Given the description of an element on the screen output the (x, y) to click on. 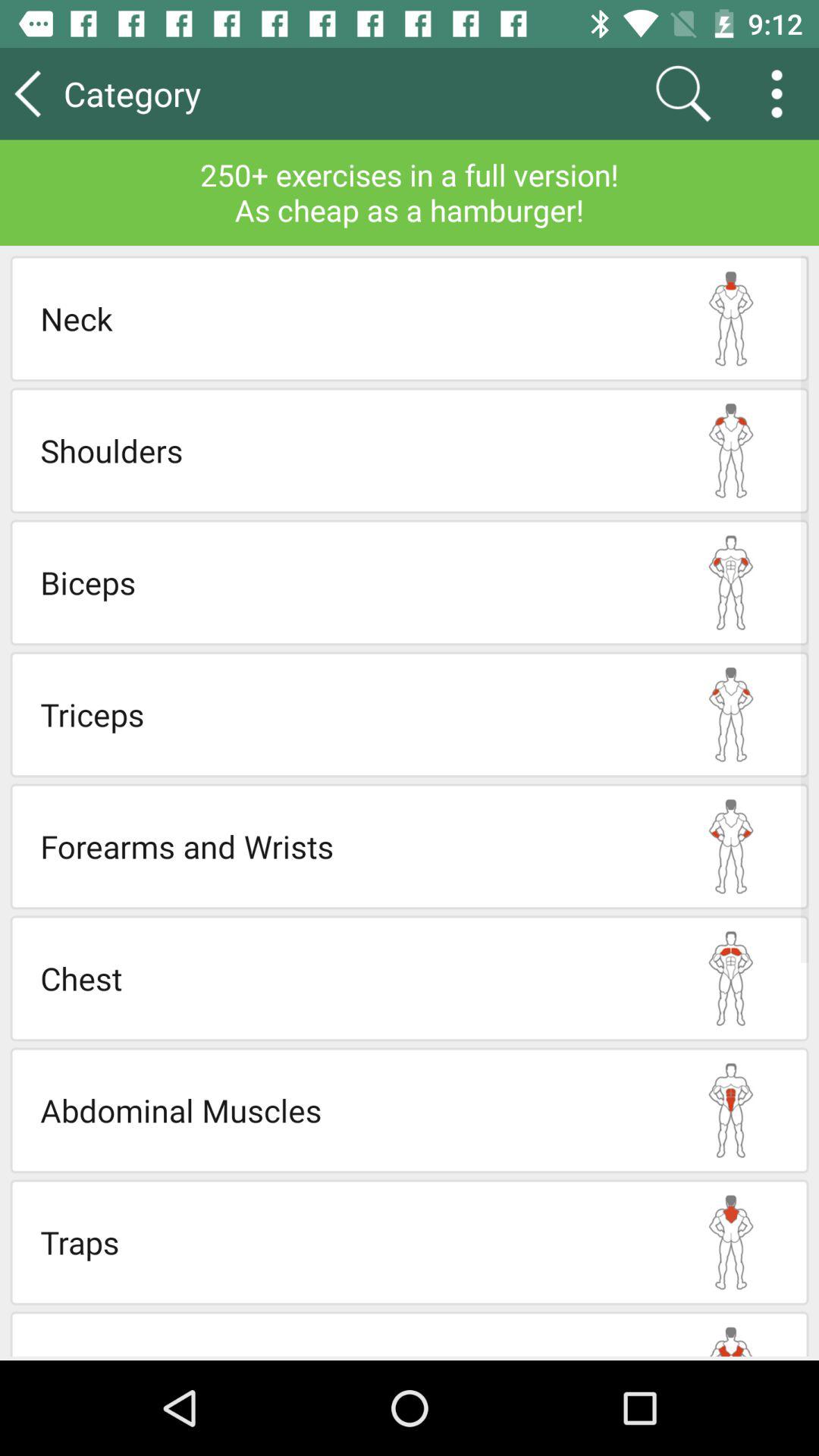
press the chest item (346, 978)
